Given the description of an element on the screen output the (x, y) to click on. 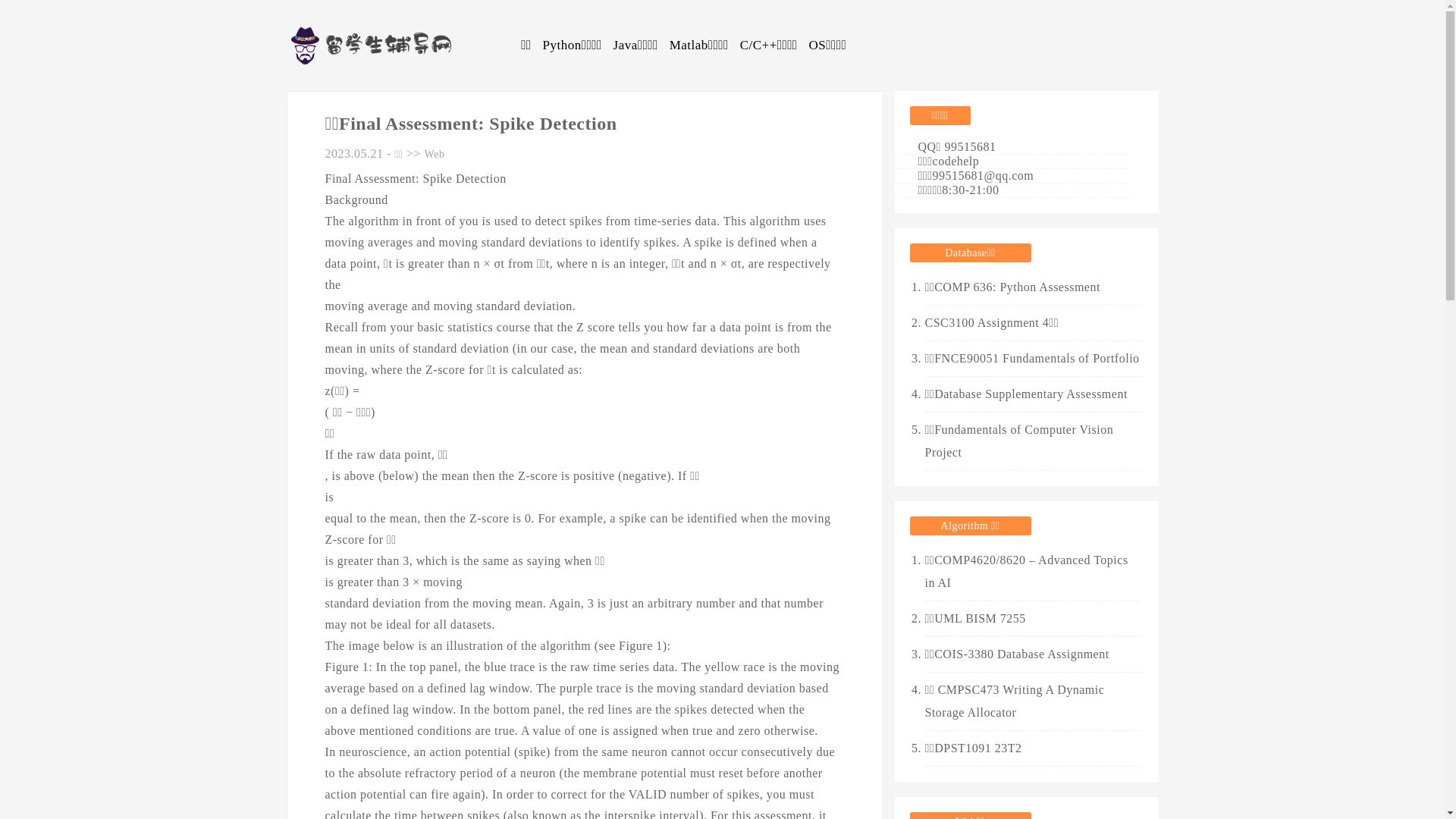
Web Element type: text (434, 154)
